Given the description of an element on the screen output the (x, y) to click on. 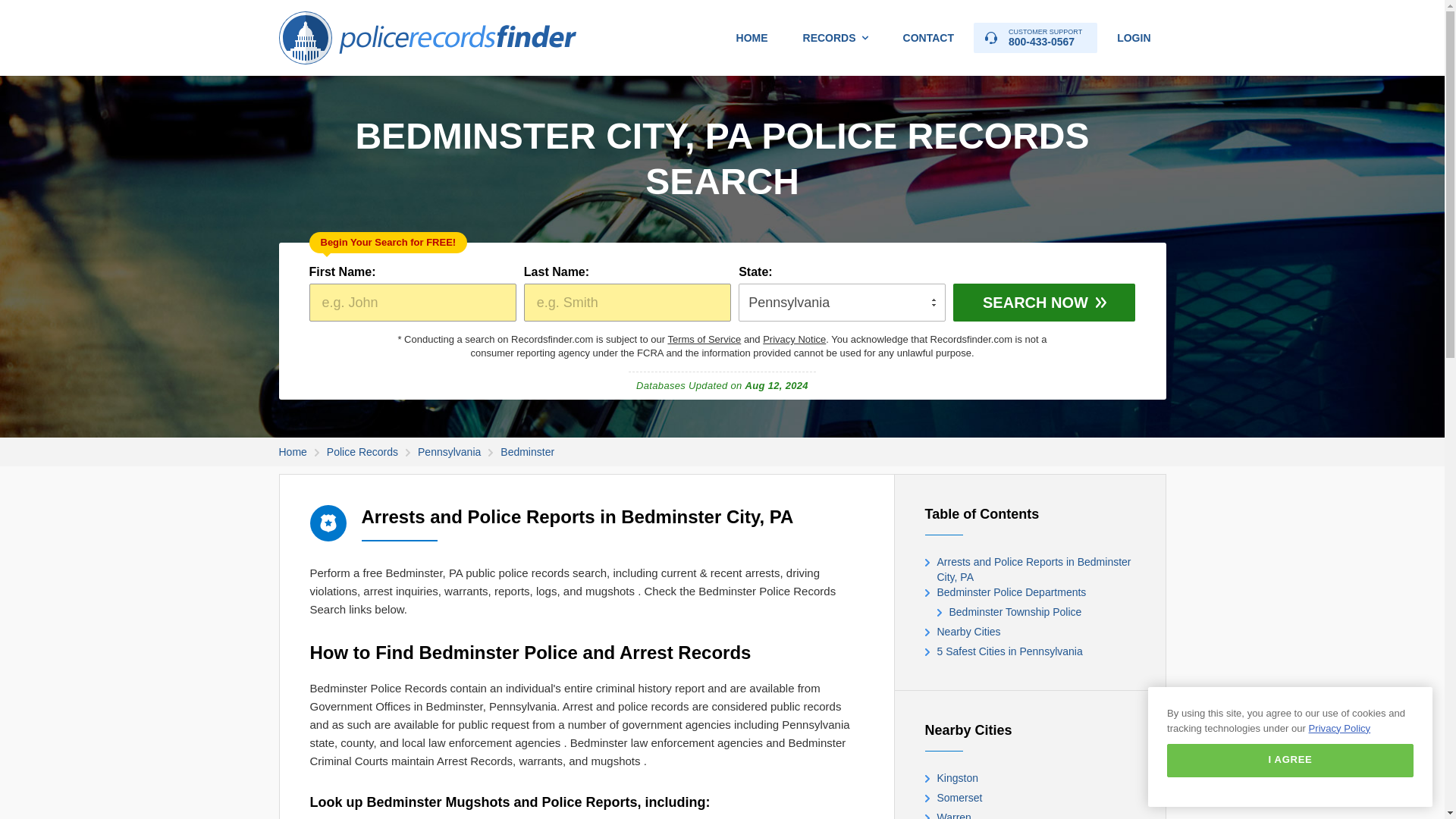
HOME (751, 37)
RECORDS (1035, 37)
CONTACT (835, 37)
